Given the description of an element on the screen output the (x, y) to click on. 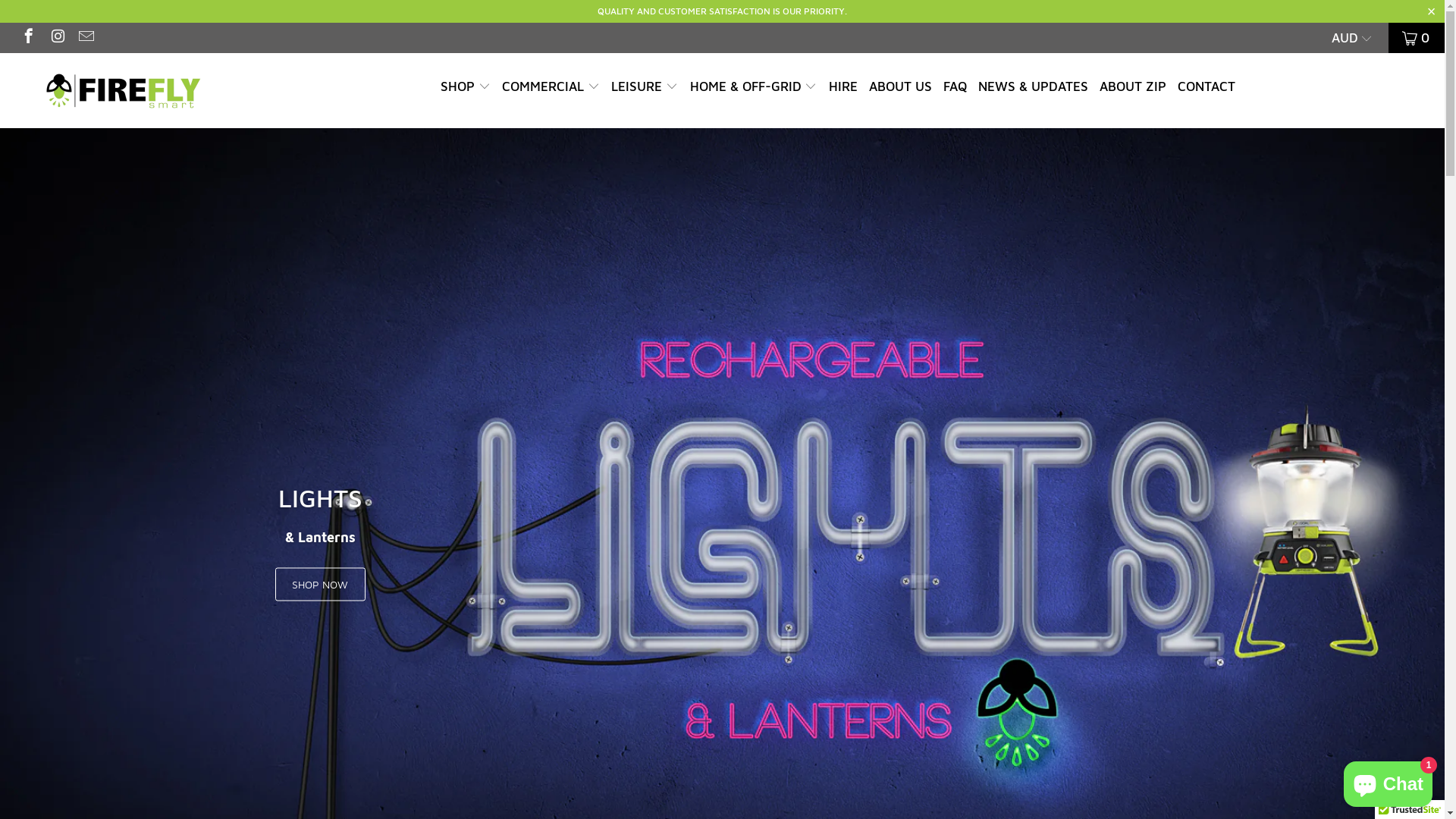
CONTACT Element type: text (1206, 87)
SHOP Element type: text (465, 87)
ABOUT US Element type: text (900, 87)
ABOUT ZIP Element type: text (1132, 87)
FireFly Smart Element type: hover (123, 90)
SHOP NOW Element type: text (319, 584)
Email FireFly Smart Element type: hover (85, 37)
Shopify online store chat Element type: hover (1388, 780)
LEISURE Element type: text (644, 87)
HOME & OFF-GRID Element type: text (753, 87)
FireFly Smart on Instagram Element type: hover (56, 37)
FAQ Element type: text (954, 87)
FireFly Smart on Facebook Element type: hover (27, 37)
NEWS & UPDATES Element type: text (1033, 87)
0 Element type: text (1416, 37)
HIRE Element type: text (842, 87)
COMMERCIAL Element type: text (550, 87)
